Given the description of an element on the screen output the (x, y) to click on. 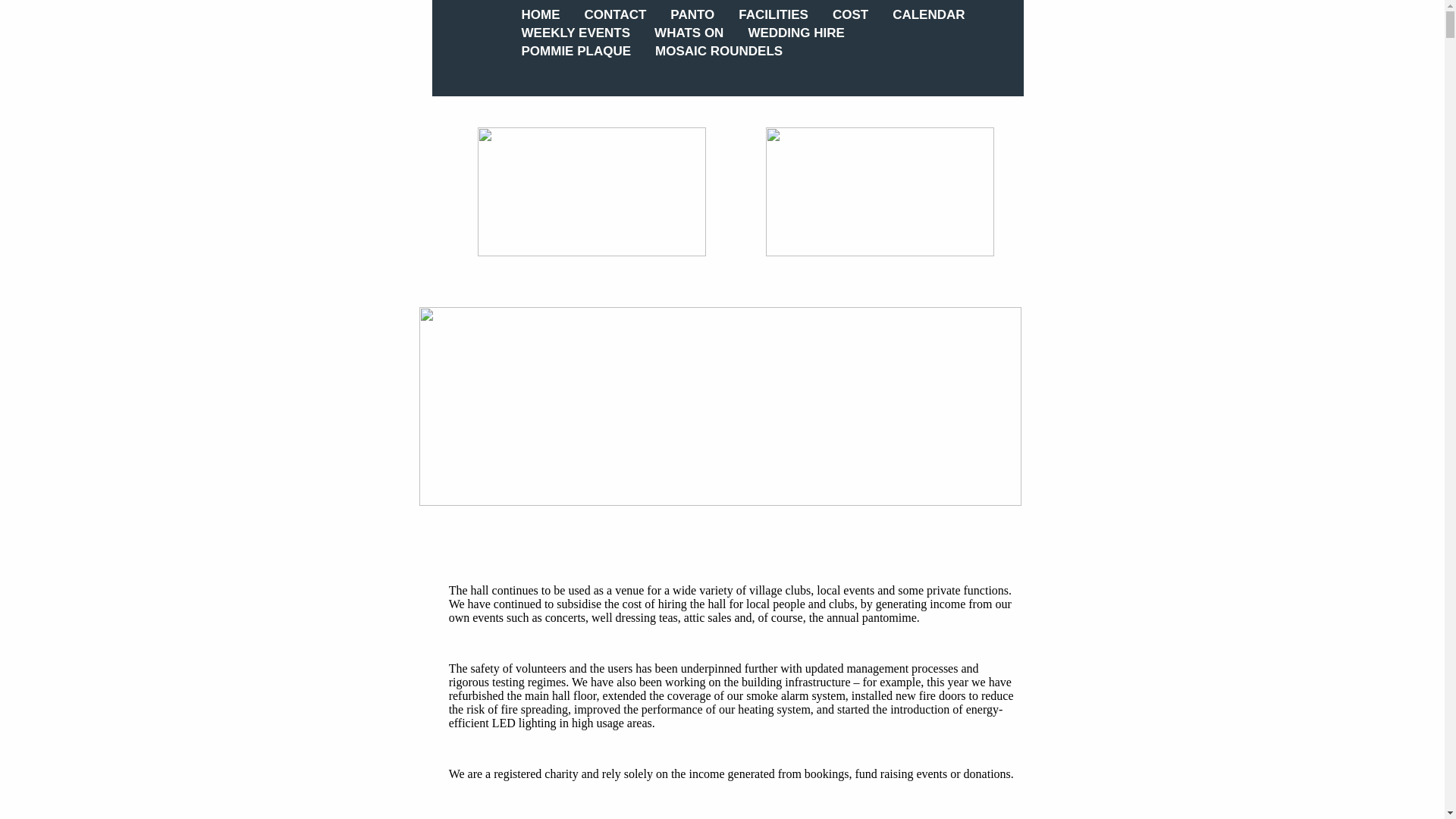
MOSAIC ROUNDELS (718, 51)
CONTACT (615, 14)
COST (850, 14)
FACILITIES (773, 14)
CALENDAR (928, 14)
WHATS ON (688, 33)
WEDDING HIRE (795, 33)
PANTO (691, 14)
POMMIE PLAQUE (575, 51)
HOME (539, 14)
WEEKLY EVENTS (574, 33)
